Given the description of an element on the screen output the (x, y) to click on. 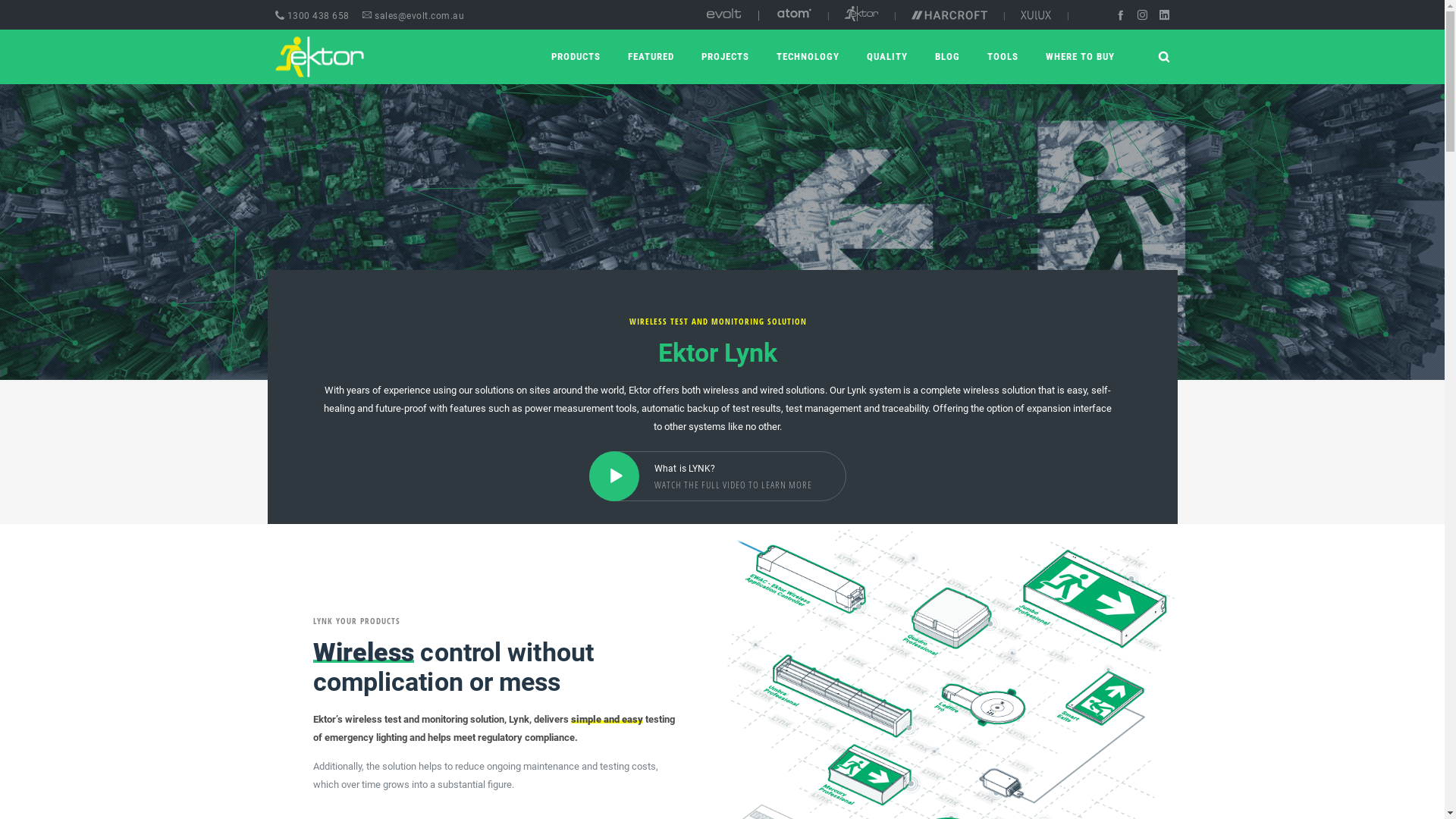
LinkedIN Element type: hover (1163, 14)
FEATURED Element type: text (650, 56)
| Element type: text (894, 14)
Distributor Element type: hover (723, 13)
Search Element type: text (1071, 412)
Site logo Element type: hover (306, 56)
TECHNOLOGY Element type: text (807, 56)
WHERE TO BUY Element type: text (1078, 56)
QUALITY Element type: text (886, 56)
LED lighting Element type: hover (794, 13)
Site logo Element type: hover (318, 57)
BLOG Element type: text (946, 56)
Xulux Lighting Element type: hover (1035, 15)
PRODUCTS Element type: text (574, 56)
| Element type: text (1067, 14)
PROJECTS Element type: text (724, 56)
Harcroft Lighting Element type: hover (949, 15)
TOOLS Element type: text (1002, 56)
| Element type: text (1003, 14)
| Element type: text (827, 14)
Facebook Element type: hover (1119, 14)
Instagram Element type: hover (1142, 14)
1300 438 658 Element type: text (311, 15)
sales@evolt.com.au Element type: text (413, 15)
Ektor Emergency Lighting Element type: hover (861, 13)
